Given the description of an element on the screen output the (x, y) to click on. 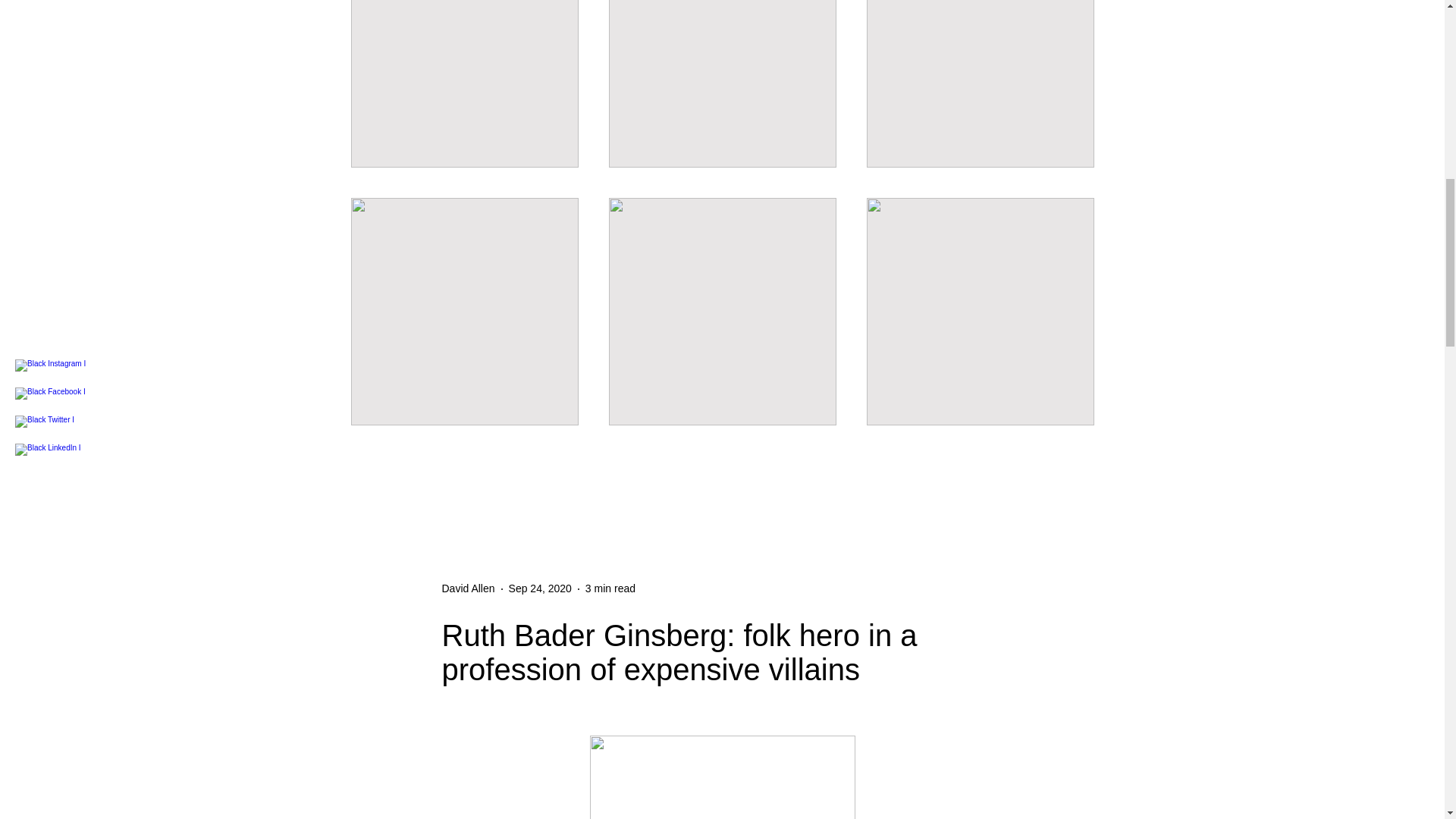
David Allen (468, 588)
3 min read (609, 588)
Sep 24, 2020 (540, 588)
David Allen (468, 588)
